Given the description of an element on the screen output the (x, y) to click on. 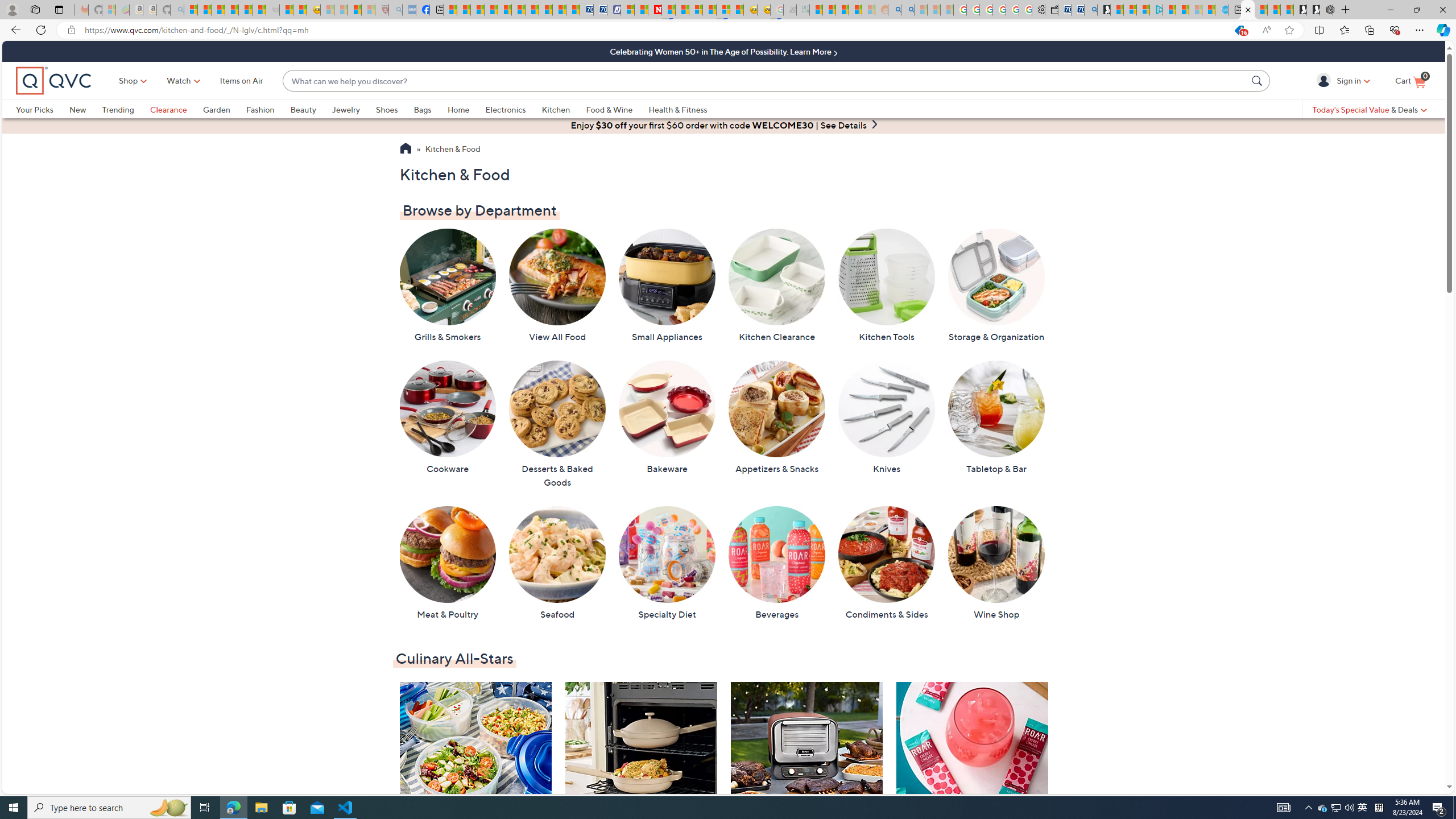
Today's Special Value & Deals (1369, 109)
QVC home (53, 80)
Fashion (268, 109)
